Given the description of an element on the screen output the (x, y) to click on. 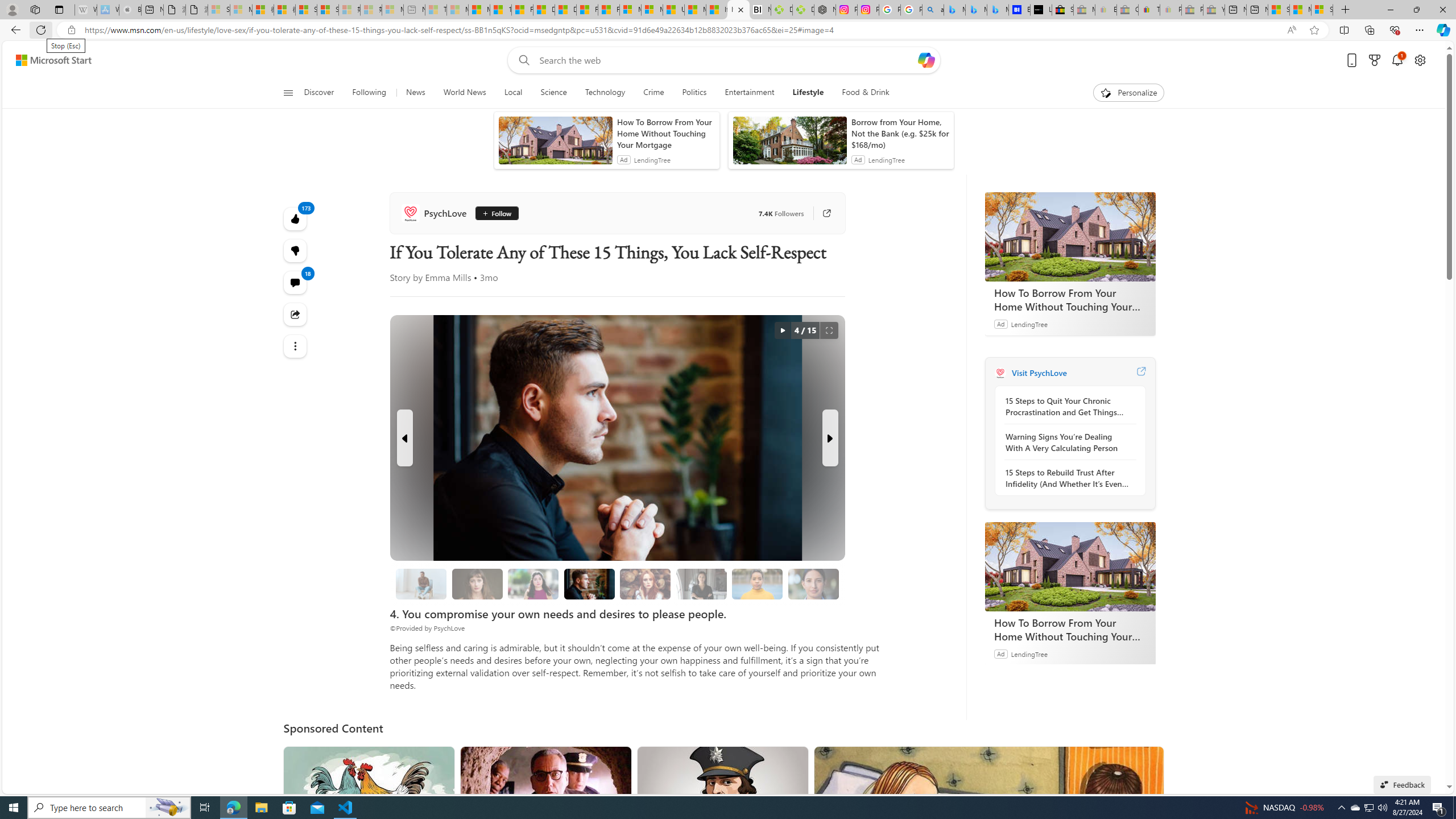
Microsoft Services Agreement - Sleeping (241, 9)
Shanghai, China hourly forecast | Microsoft Weather (1278, 9)
anim-content (789, 144)
Enter your search term (726, 59)
